Given the description of an element on the screen output the (x, y) to click on. 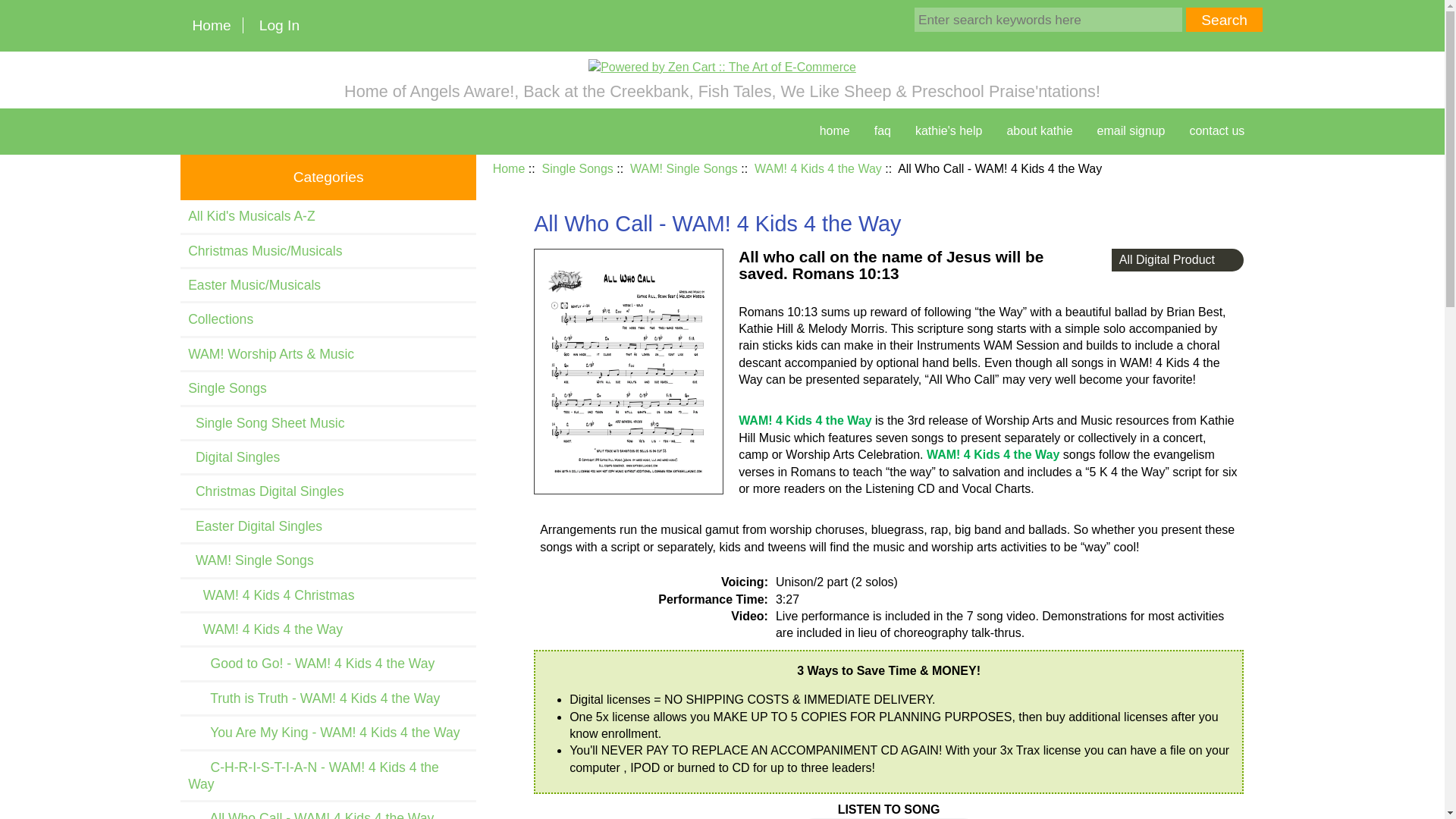
  Christmas Digital Singles (328, 490)
email signup (1130, 131)
      Truth is Truth - WAM! 4 Kids 4 the Way (328, 698)
  Digital Singles (328, 457)
      C-H-R-I-S-T-I-A-N - WAM! 4 Kids 4 the Way (328, 775)
All Kid's Musicals A-Z (328, 215)
Home (211, 25)
Single Songs (328, 388)
home (834, 131)
Home (509, 168)
contact us (1216, 131)
kathie's help (948, 131)
  Single Song Sheet Music (328, 422)
    WAM! 4 Kids 4 Christmas (328, 594)
      All Who Call - WAM! 4 Kids 4 the Way (328, 810)
